Given the description of an element on the screen output the (x, y) to click on. 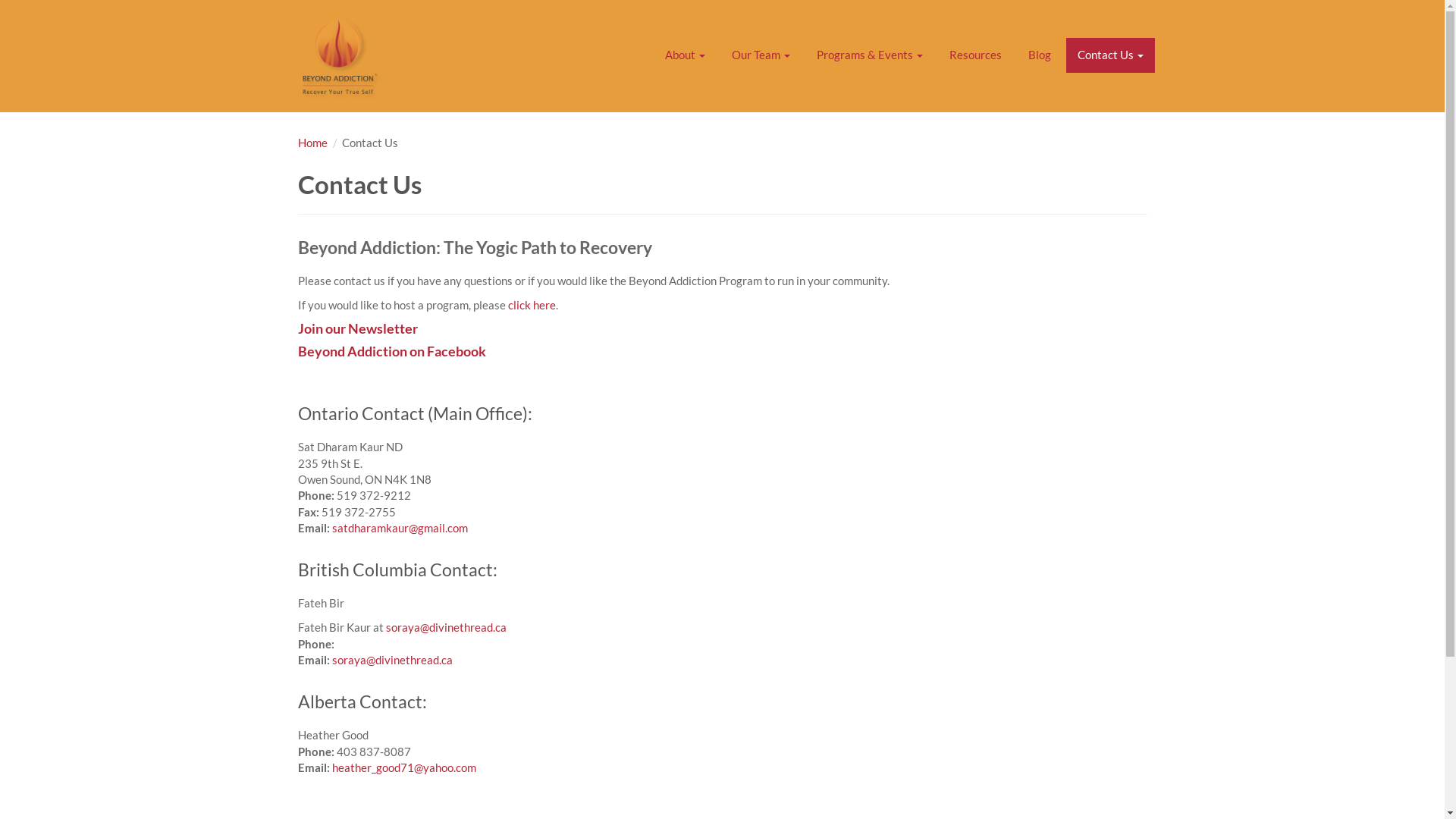
click here Element type: text (531, 304)
Beyond Addiction on Facebook Element type: text (391, 350)
Home Element type: text (311, 142)
Resources Element type: text (974, 54)
Our Team Element type: text (760, 54)
soraya@divinethread.ca Element type: text (445, 626)
Blog Element type: text (1038, 54)
satdharamkaur@gmail.com Element type: text (399, 527)
soraya@divinethread.ca Element type: text (392, 659)
About Element type: text (684, 54)
Join our Newsletter Element type: text (357, 328)
Programs & Events Element type: text (869, 54)
heather_good71@yahoo.com Element type: text (404, 767)
Contact Us Element type: text (1110, 54)
